Given the description of an element on the screen output the (x, y) to click on. 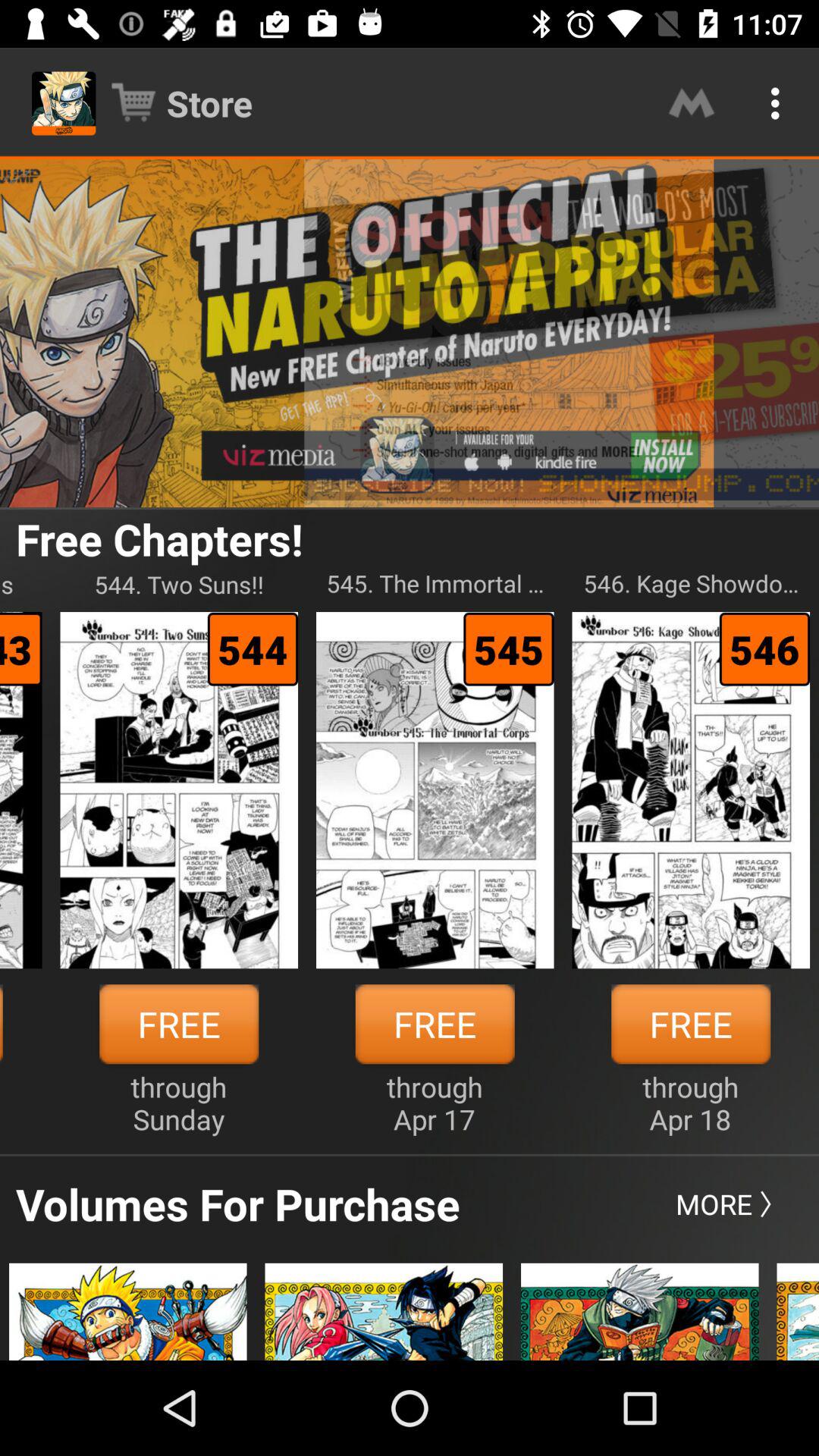
open the item below free chapters! icon (179, 584)
